Given the description of an element on the screen output the (x, y) to click on. 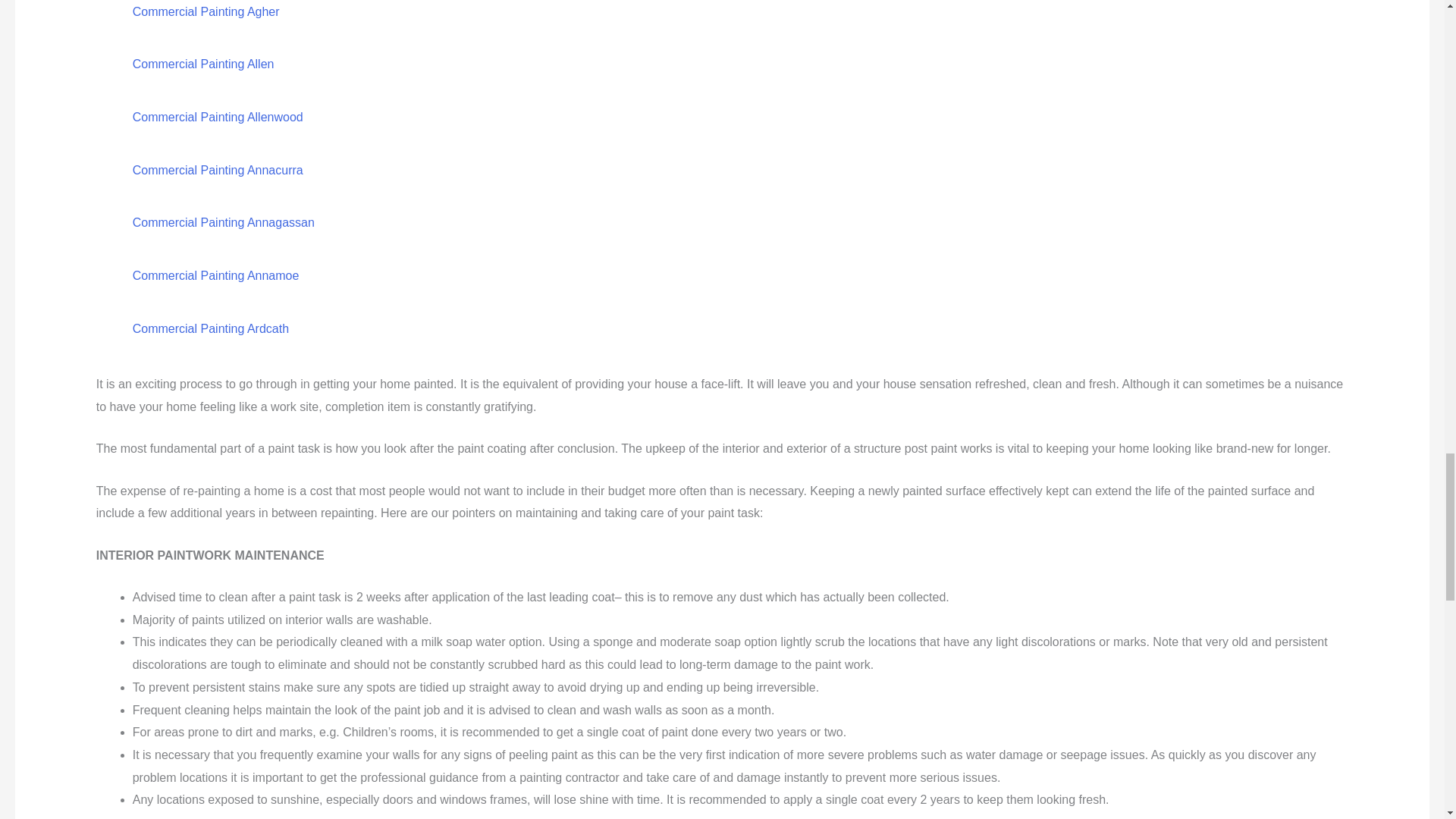
Commercial Painting Annacurra (217, 169)
Commercial Painting Allen (203, 63)
Commercial Painting Allen (203, 63)
Commercial Painting Annagassan (223, 222)
Commercial Painting Annamoe (215, 275)
Commercial Painting Agher (205, 10)
Commercial Painting Ardcath (210, 328)
Commercial Painting Annacurra (217, 169)
Commercial Painting Agher (205, 10)
Commercial Painting Annagassan (223, 222)
